Given the description of an element on the screen output the (x, y) to click on. 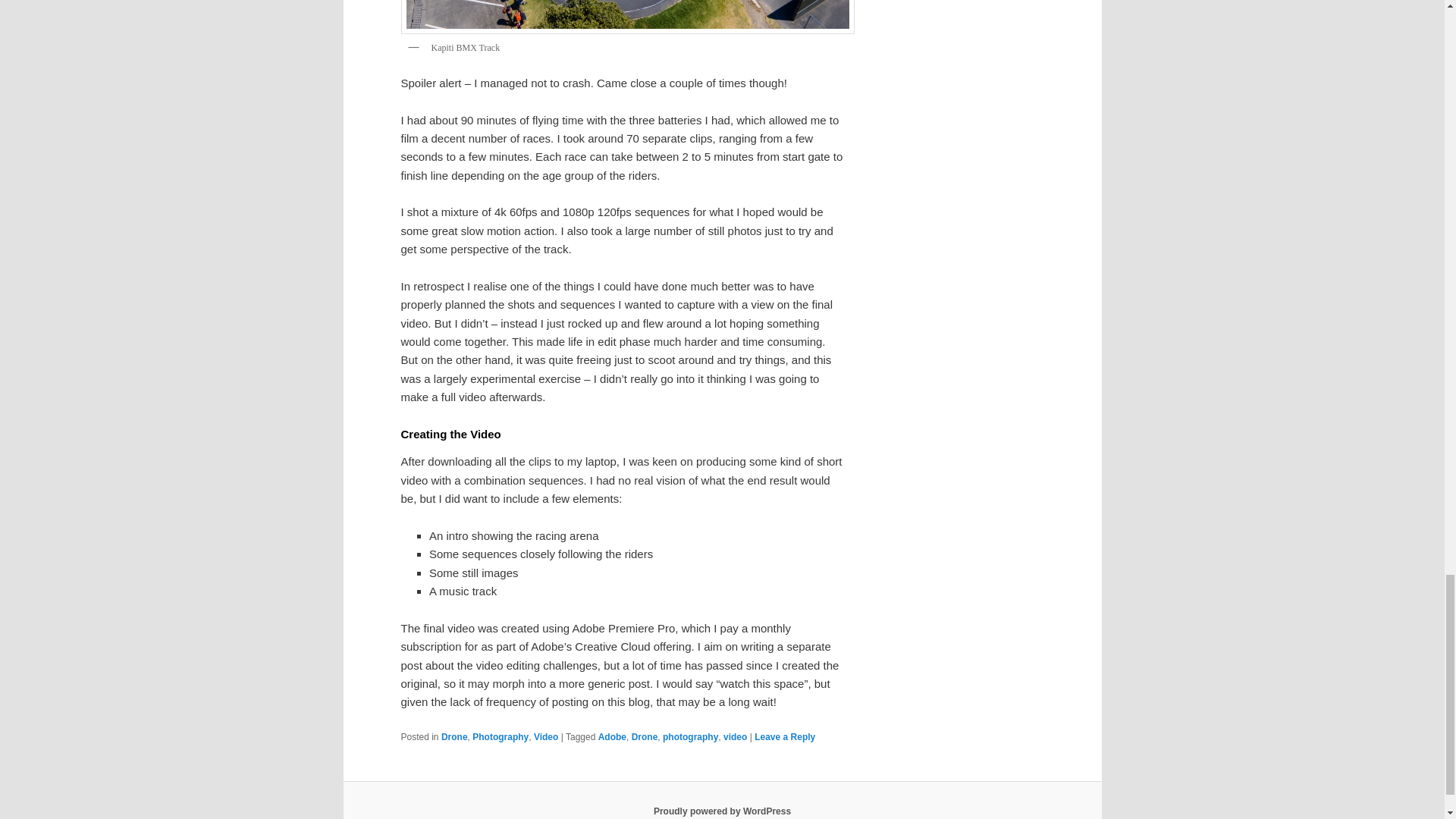
photography (689, 737)
Drone (644, 737)
Drone (454, 737)
video (734, 737)
Leave a Reply (784, 737)
Photography (499, 737)
Semantic Personal Publishing Platform (721, 810)
Adobe (612, 737)
Video (545, 737)
